Given the description of an element on the screen output the (x, y) to click on. 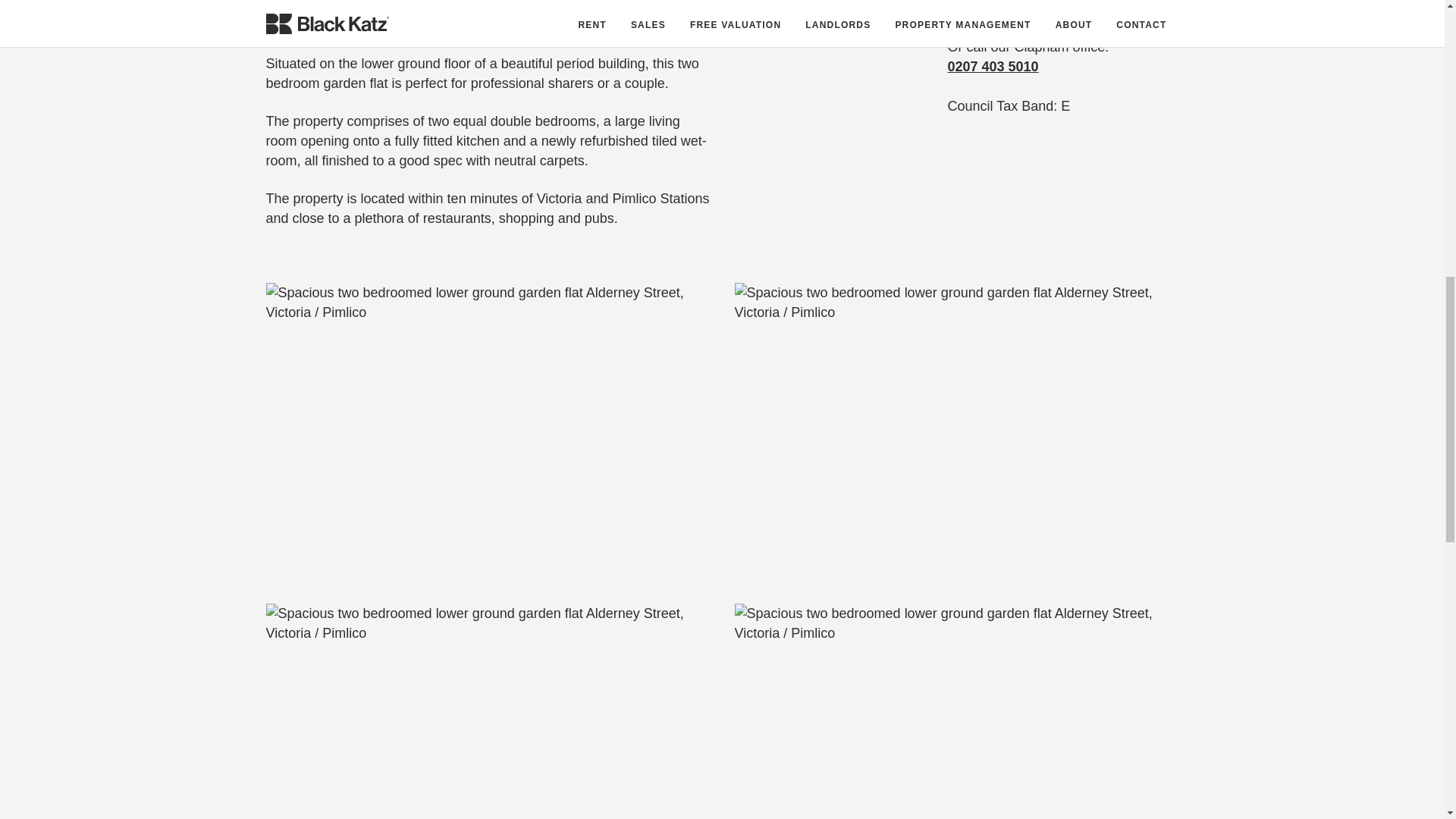
Alderney Street (955, 430)
Alderney Street (955, 711)
Alderney Street (487, 711)
Alderney Street (487, 430)
FREE FAST TRACK CLUB (1063, 9)
0207 403 5010 (993, 66)
